Given the description of an element on the screen output the (x, y) to click on. 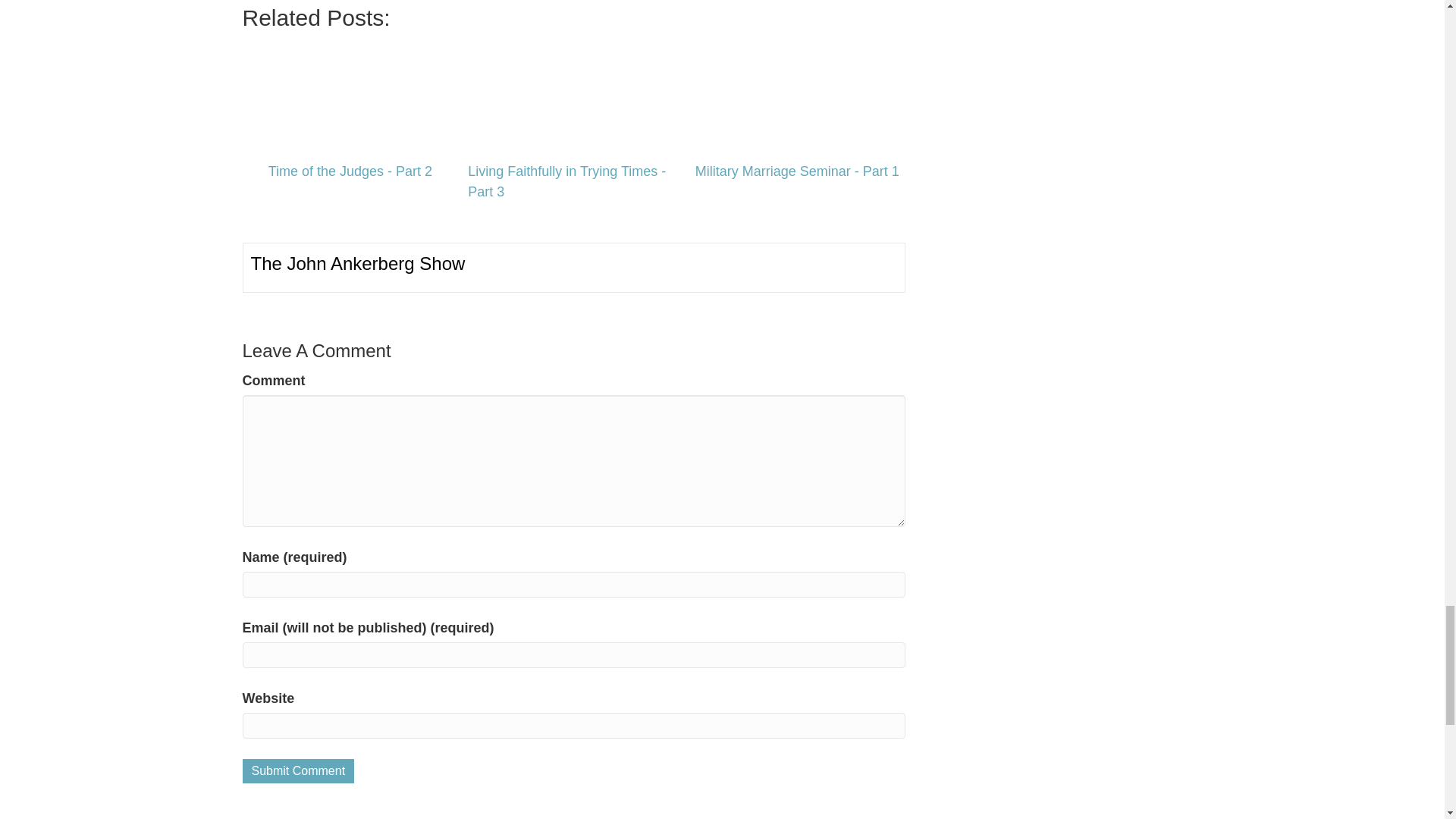
Living Faithfully in Trying Times - Part 3 (574, 95)
Submit Comment (299, 770)
Time of the Judges - Part 2 (349, 95)
Military Marriage Seminar - Part 1 (796, 95)
